Given the description of an element on the screen output the (x, y) to click on. 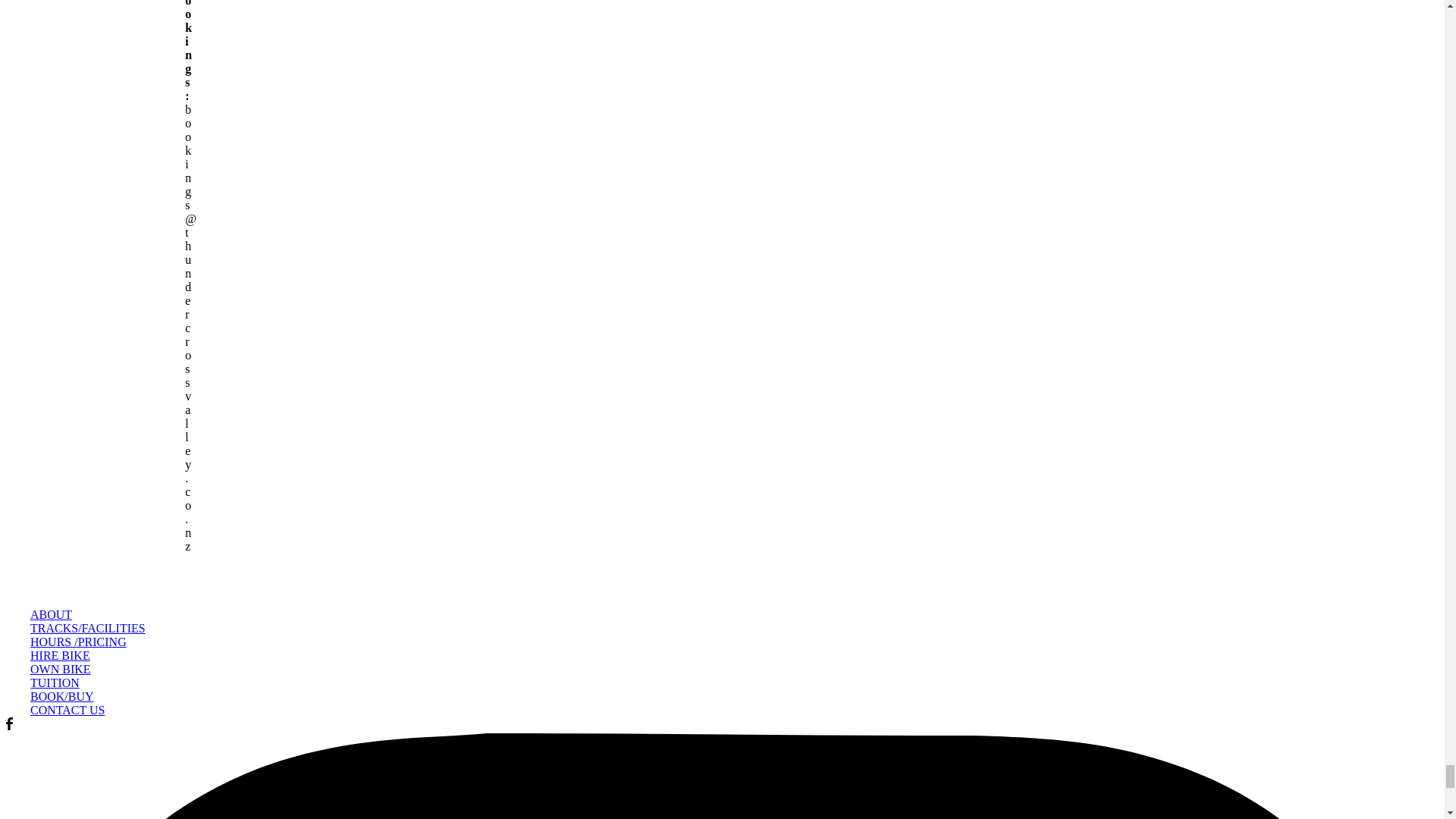
A link to this website's Facebook. (9, 725)
